Given the description of an element on the screen output the (x, y) to click on. 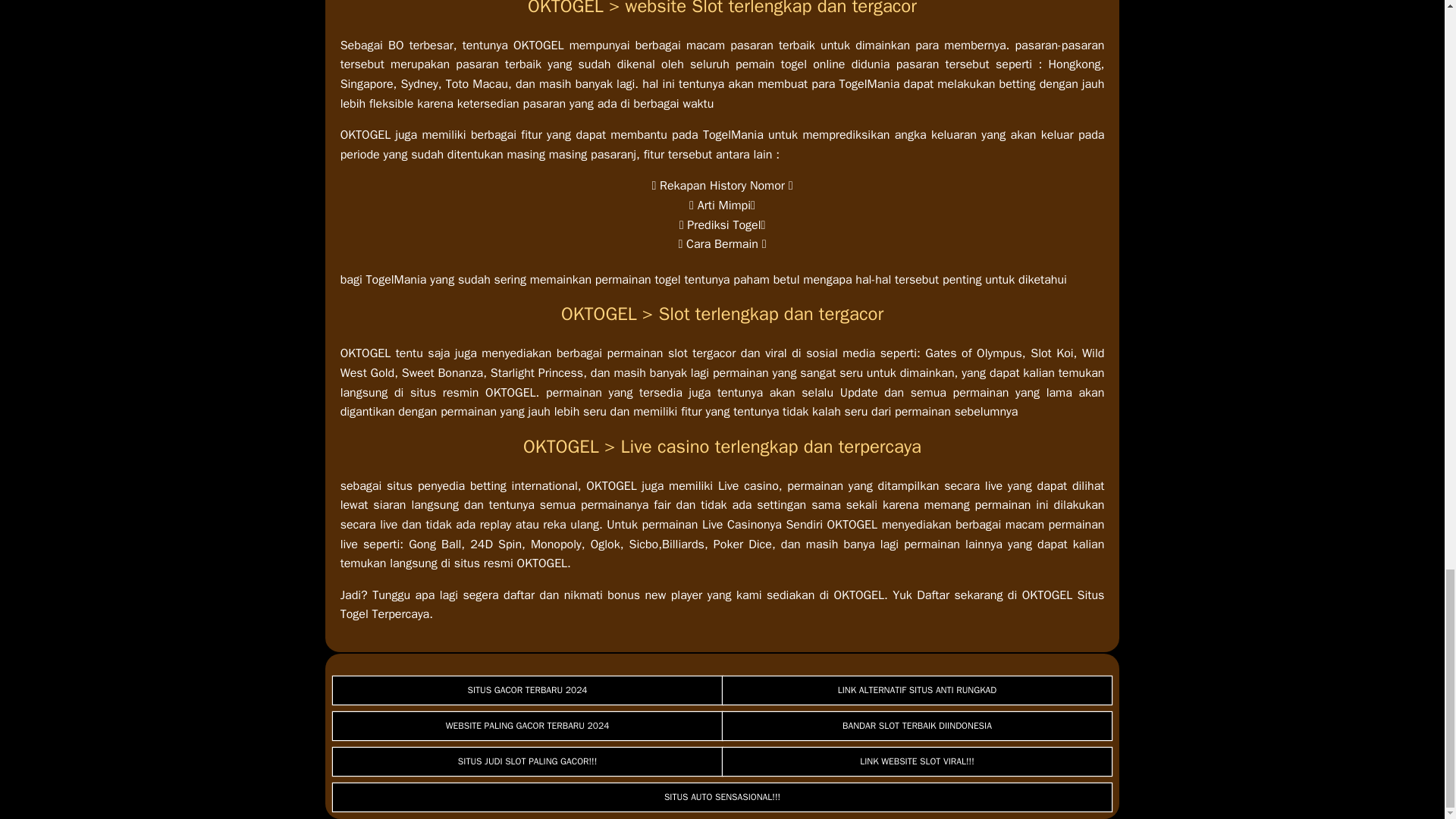
SITUS AUTO SENSASIONAL!!! (722, 796)
WEBSITE PALING GACOR TERBARU 2024 (527, 725)
LINK ALTERNATIF SITUS ANTI RUNGKAD (917, 690)
BANDAR SLOT TERBAIK DIINDONESIA (917, 725)
LINK WEBSITE SLOT VIRAL!!! (917, 761)
SITUS JUDI SLOT PALING GACOR!!! (527, 761)
SITUS GACOR TERBARU 2024 (527, 690)
